Given the description of an element on the screen output the (x, y) to click on. 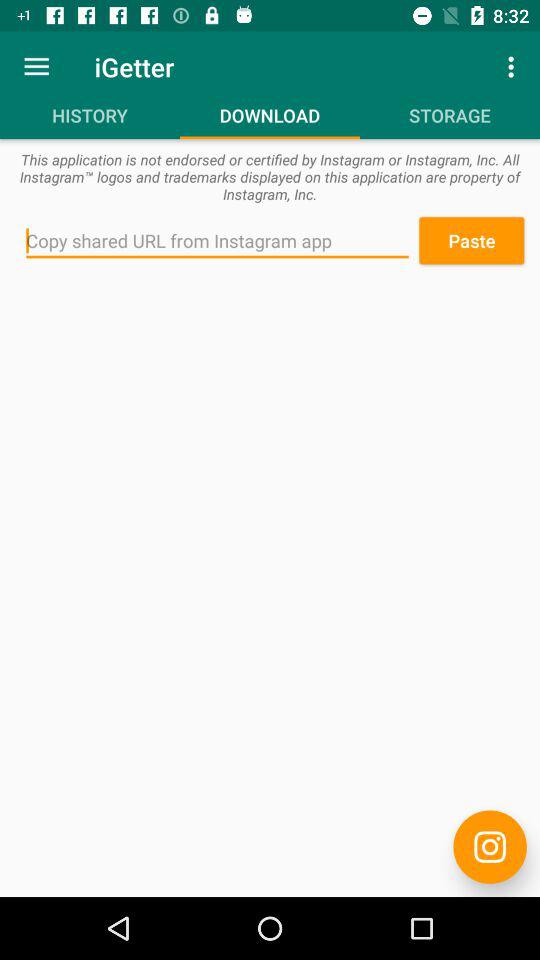
open the icon above history (36, 66)
